Given the description of an element on the screen output the (x, y) to click on. 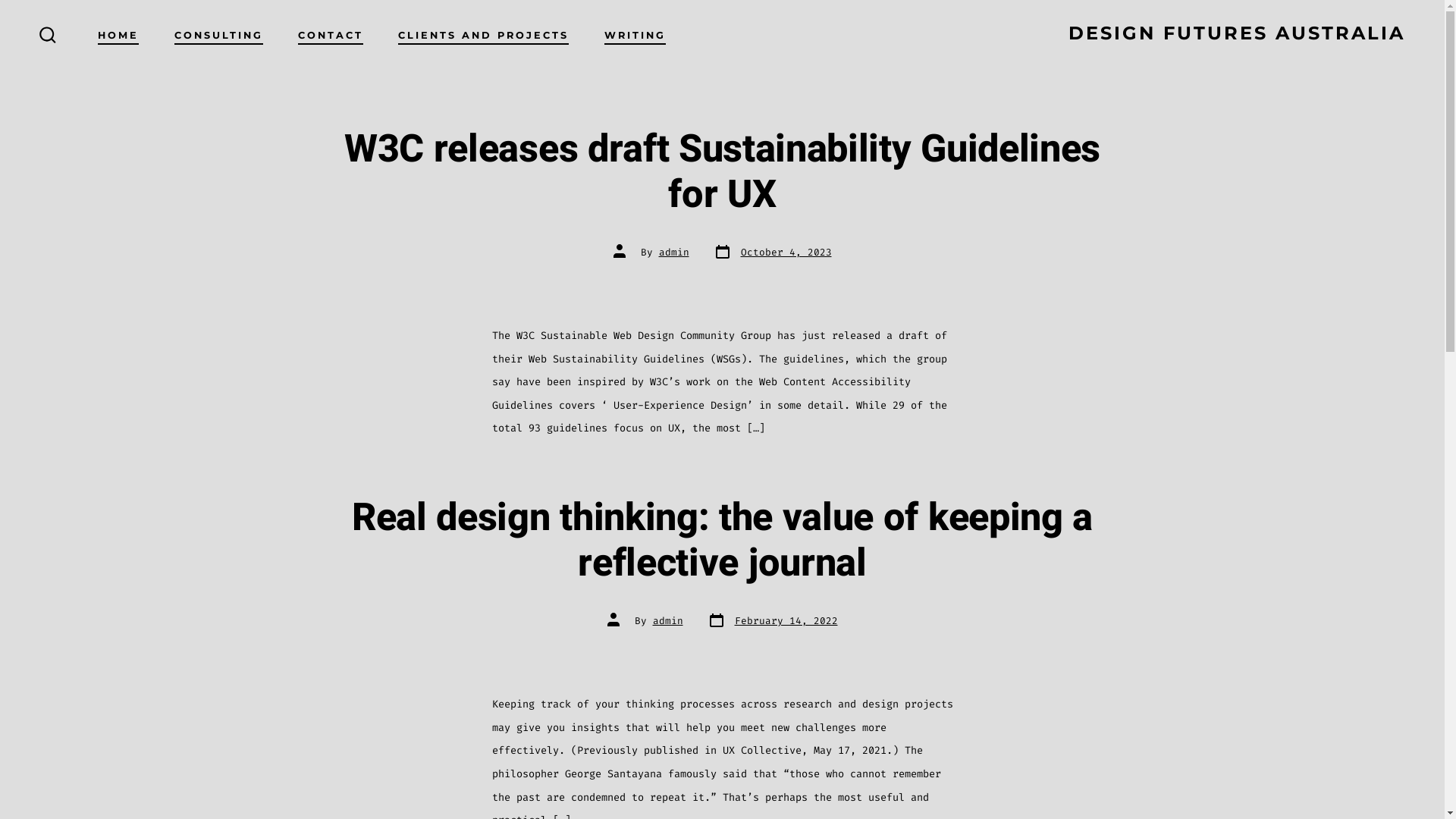
admin Element type: text (673, 251)
CLIENTS AND PROJECTS Element type: text (483, 36)
Post date
October 4, 2023 Element type: text (771, 252)
admin Element type: text (667, 620)
WRITING Element type: text (634, 36)
HOME Element type: text (117, 36)
Post date
February 14, 2022 Element type: text (771, 621)
SEARCH TOGGLE Element type: text (47, 35)
CONTACT Element type: text (330, 36)
DESIGN FUTURES AUSTRALIA Element type: text (1236, 35)
W3C releases draft Sustainability Guidelines for UX Element type: text (722, 172)
CONSULTING Element type: text (218, 36)
